Given the description of an element on the screen output the (x, y) to click on. 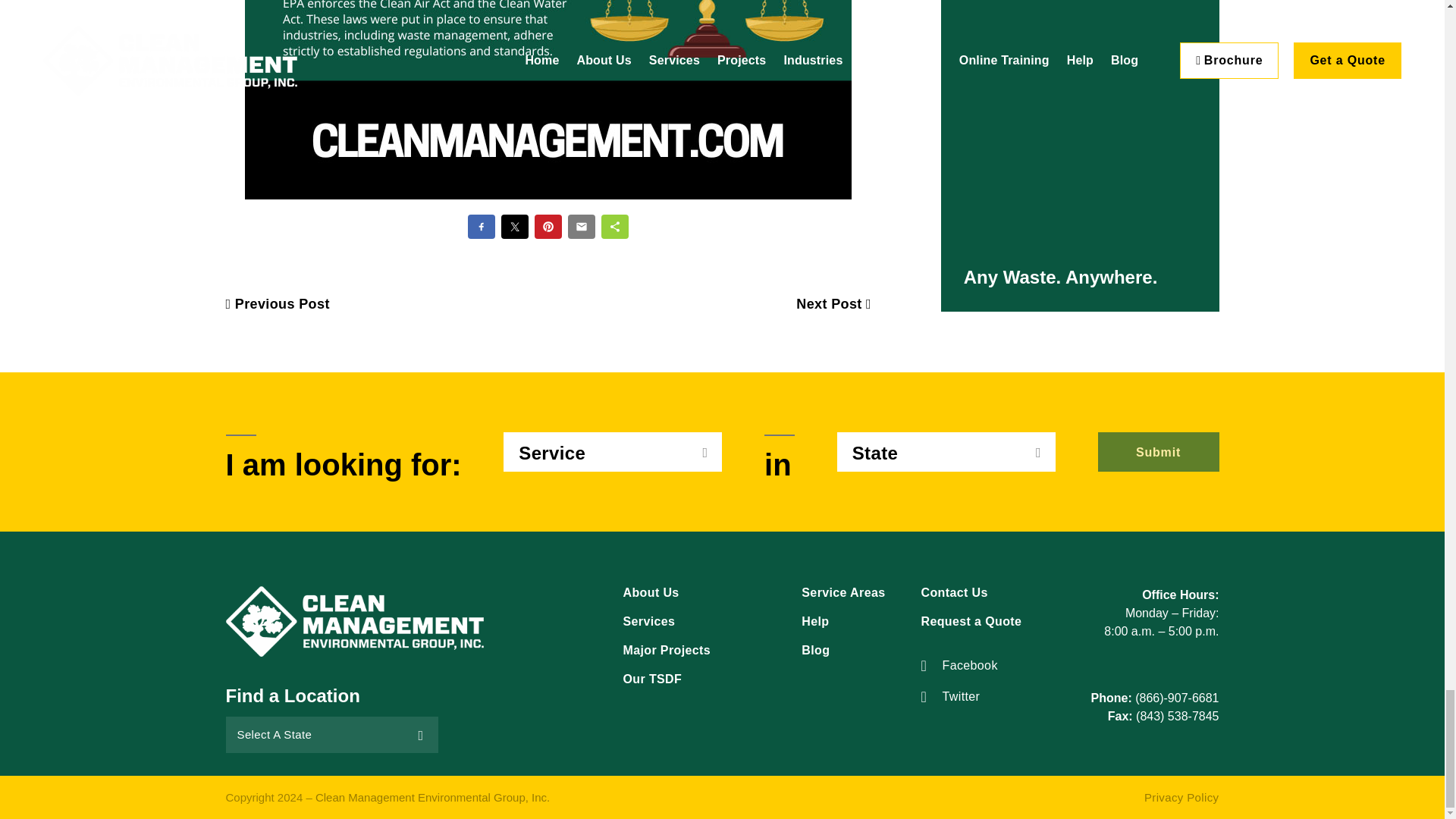
Service (612, 451)
Select A State (331, 734)
State (946, 451)
Clean Management Environmental Group, Inc. (354, 621)
